Given the description of an element on the screen output the (x, y) to click on. 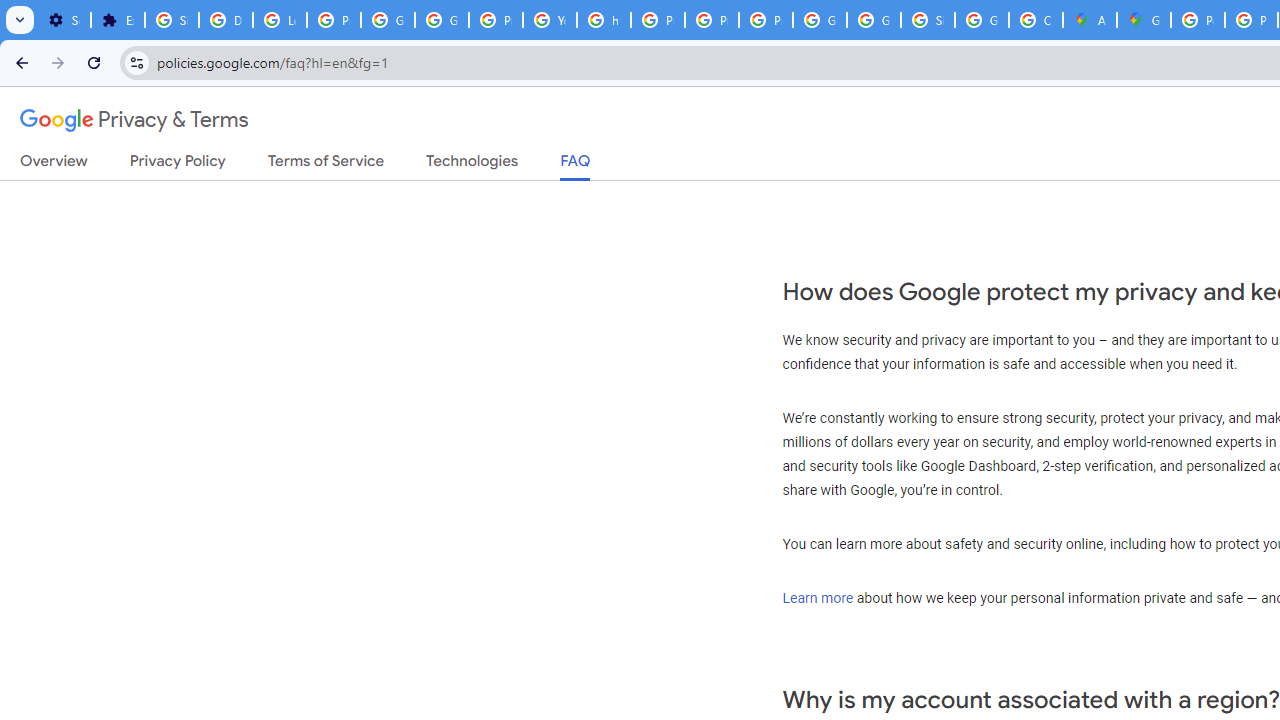
Google Maps (1144, 20)
Learn how to find your photos - Google Photos Help (280, 20)
